Given the description of an element on the screen output the (x, y) to click on. 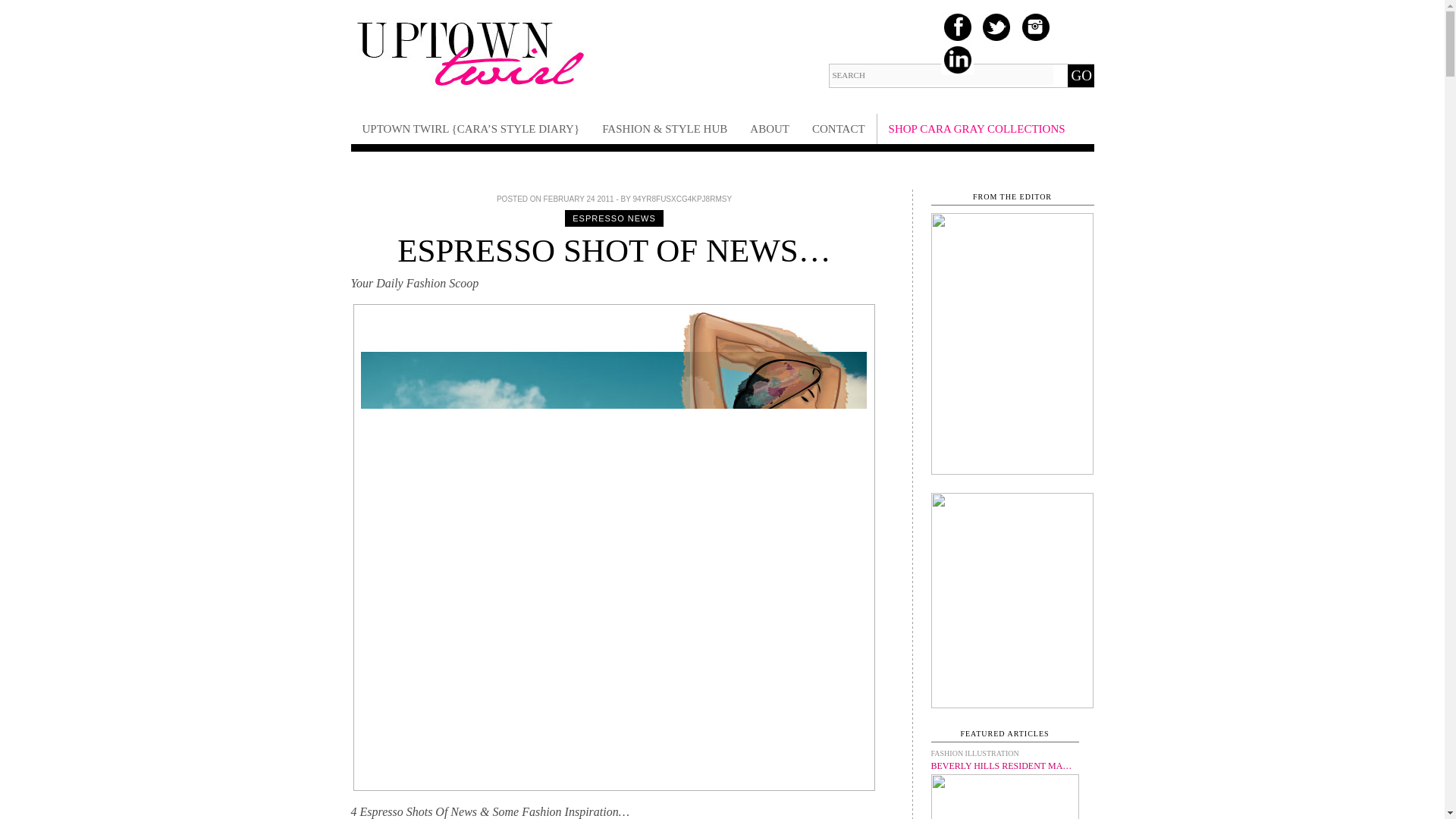
ABOUT (769, 128)
Uptown Twirl (467, 87)
CONTACT (838, 128)
Search (940, 74)
Search (940, 74)
SHOP CARA GRAY COLLECTIONS (976, 128)
ESPRESSO NEWS (613, 217)
GO (1080, 75)
Search (940, 74)
GO (1080, 75)
GO (1080, 75)
